Given the description of an element on the screen output the (x, y) to click on. 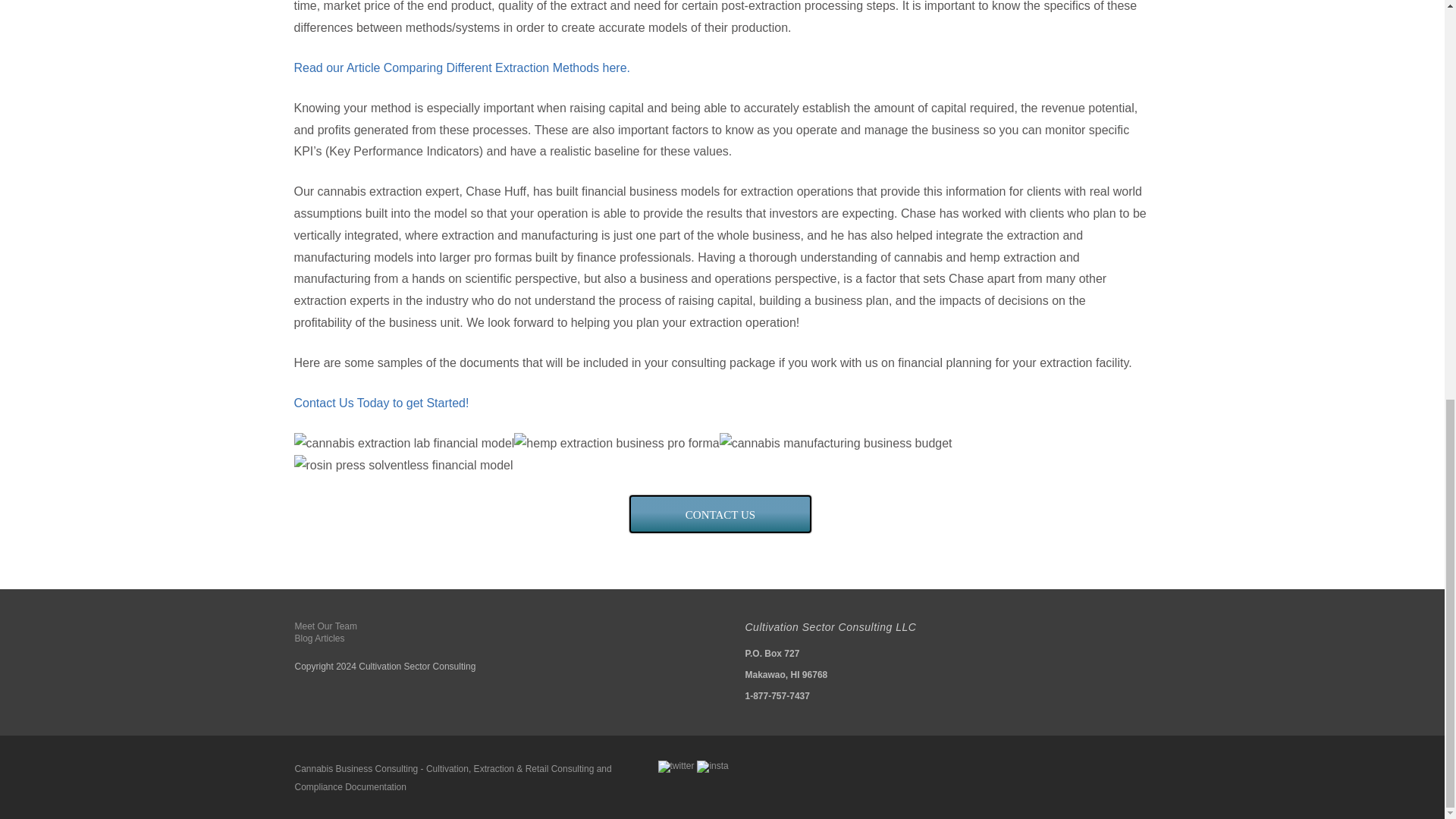
Get Started with Cultivation Consulting (719, 514)
insta (712, 766)
Twitter (676, 766)
